Given the description of an element on the screen output the (x, y) to click on. 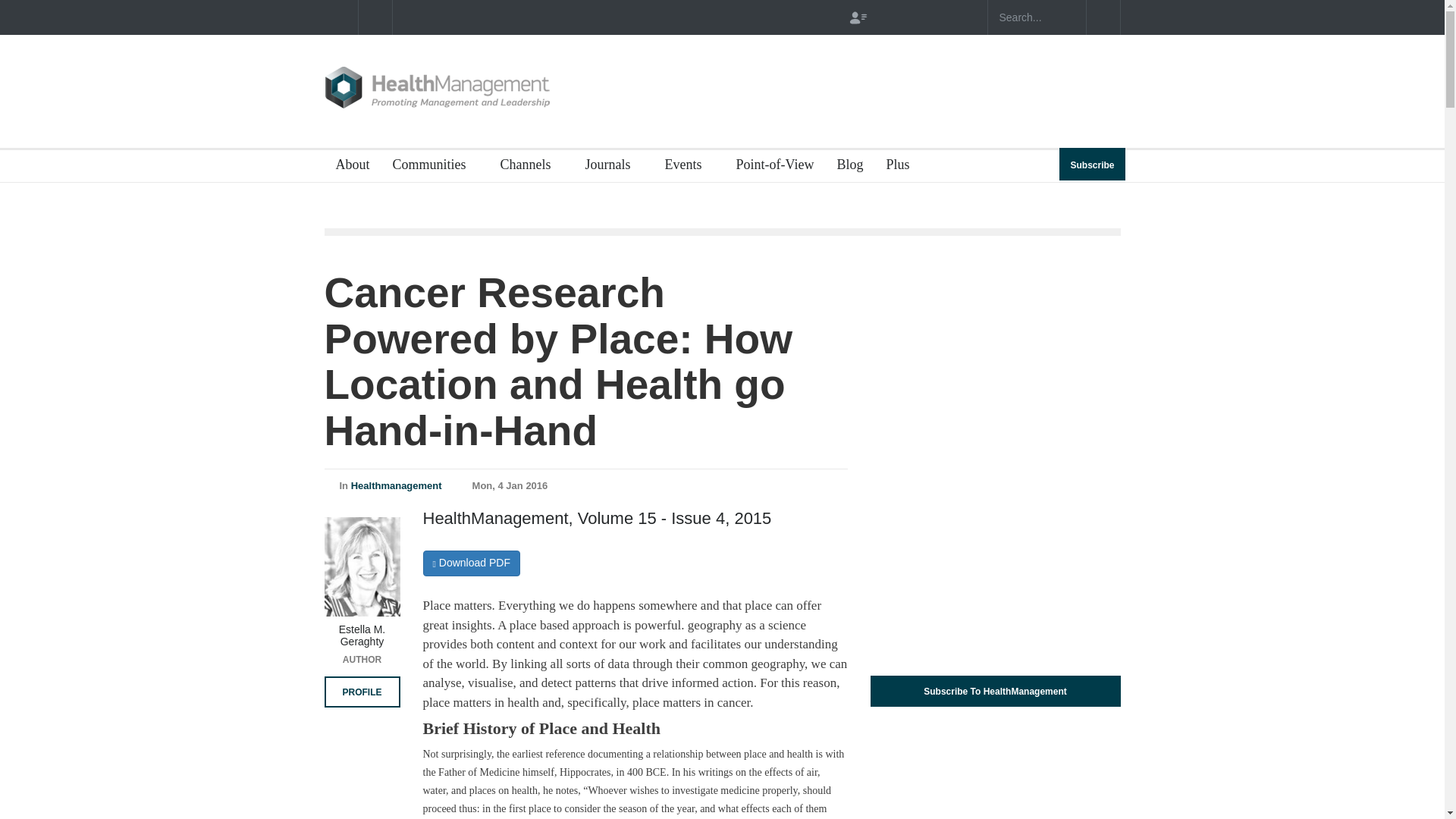
mail (963, 16)
Left (339, 16)
About (346, 165)
Search (1102, 17)
About (346, 165)
facebook (910, 16)
Communities (433, 165)
3rd party ad content (845, 90)
Communities (433, 165)
Search text (1036, 17)
Events (689, 165)
Right (374, 16)
twitter (937, 16)
Channels (531, 165)
Journals (613, 165)
